Given the description of an element on the screen output the (x, y) to click on. 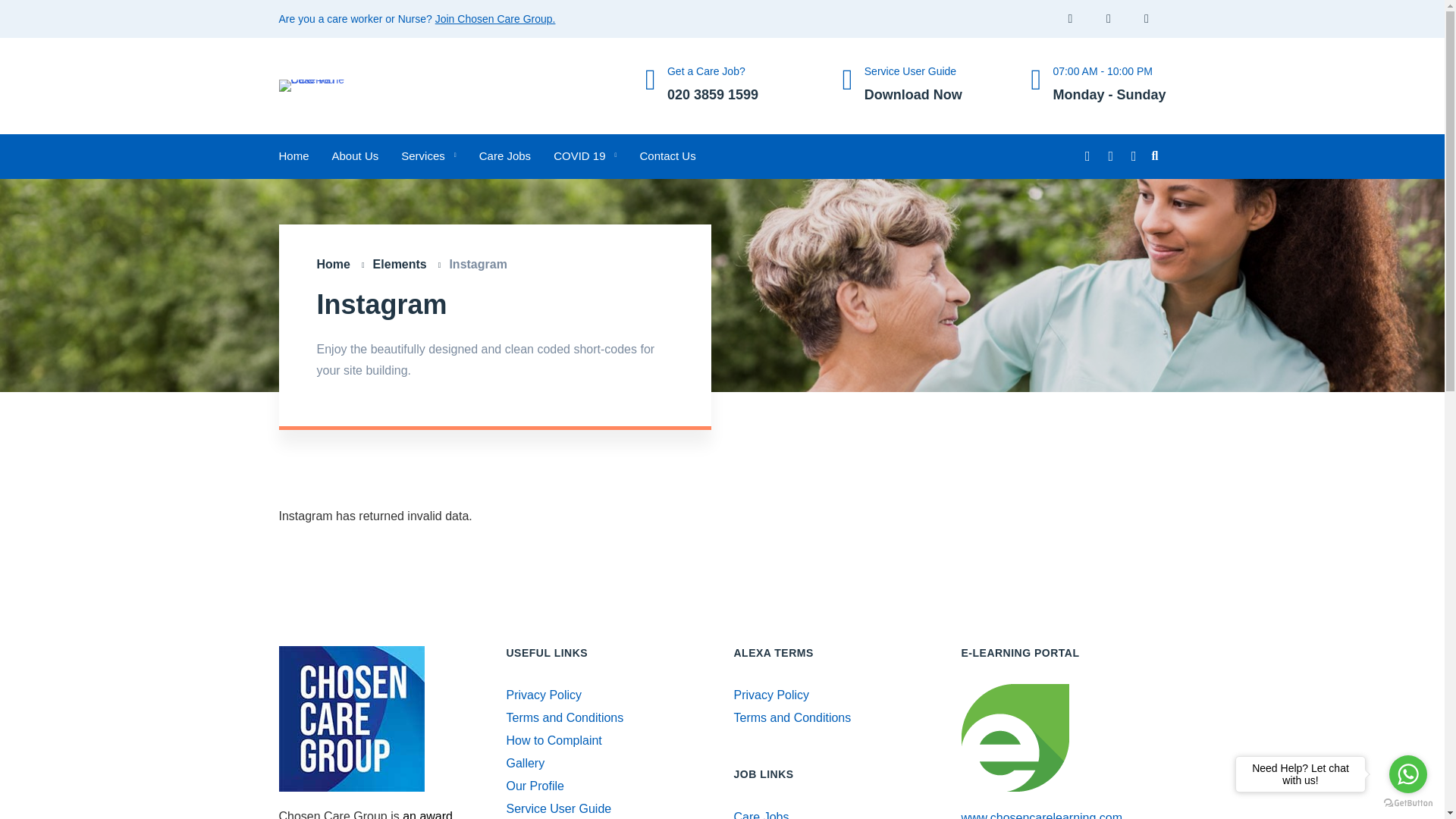
Home (341, 263)
Elements (712, 86)
Terms and Conditions (913, 86)
Gallery (406, 263)
COVID 19 (565, 717)
Privacy Policy (525, 762)
Join Chosen Care Group. (584, 156)
Contact Us (544, 694)
Care Jobs (506, 19)
Our Profile (667, 156)
How to Complaint (505, 156)
About Us (535, 785)
Services (554, 739)
